Given the description of an element on the screen output the (x, y) to click on. 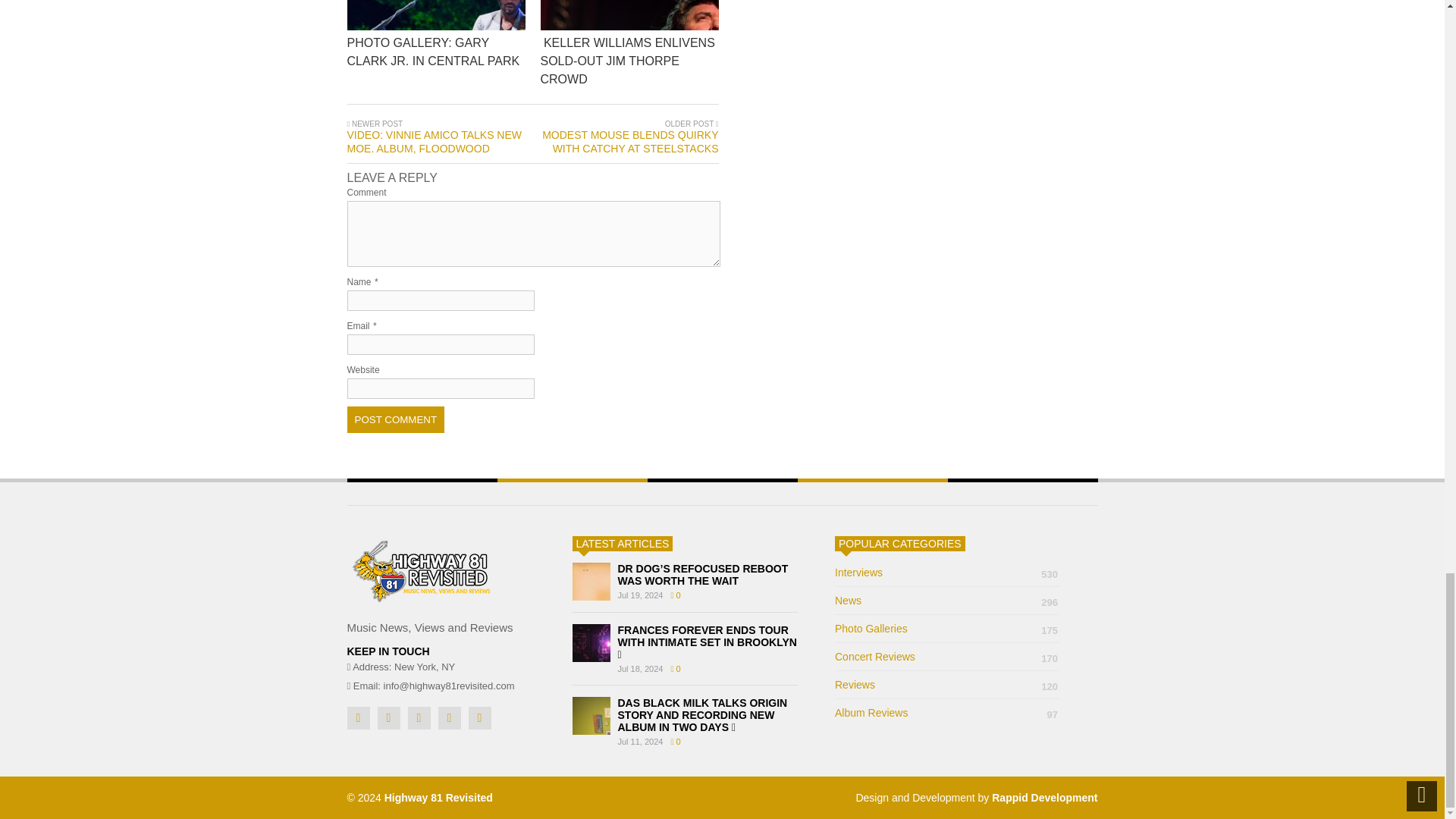
PHOTO GALLERY: GARY CLARK JR. IN CENTRAL PARK (536, 94)
Post Comment (396, 419)
Click to read (436, 15)
